Given the description of an element on the screen output the (x, y) to click on. 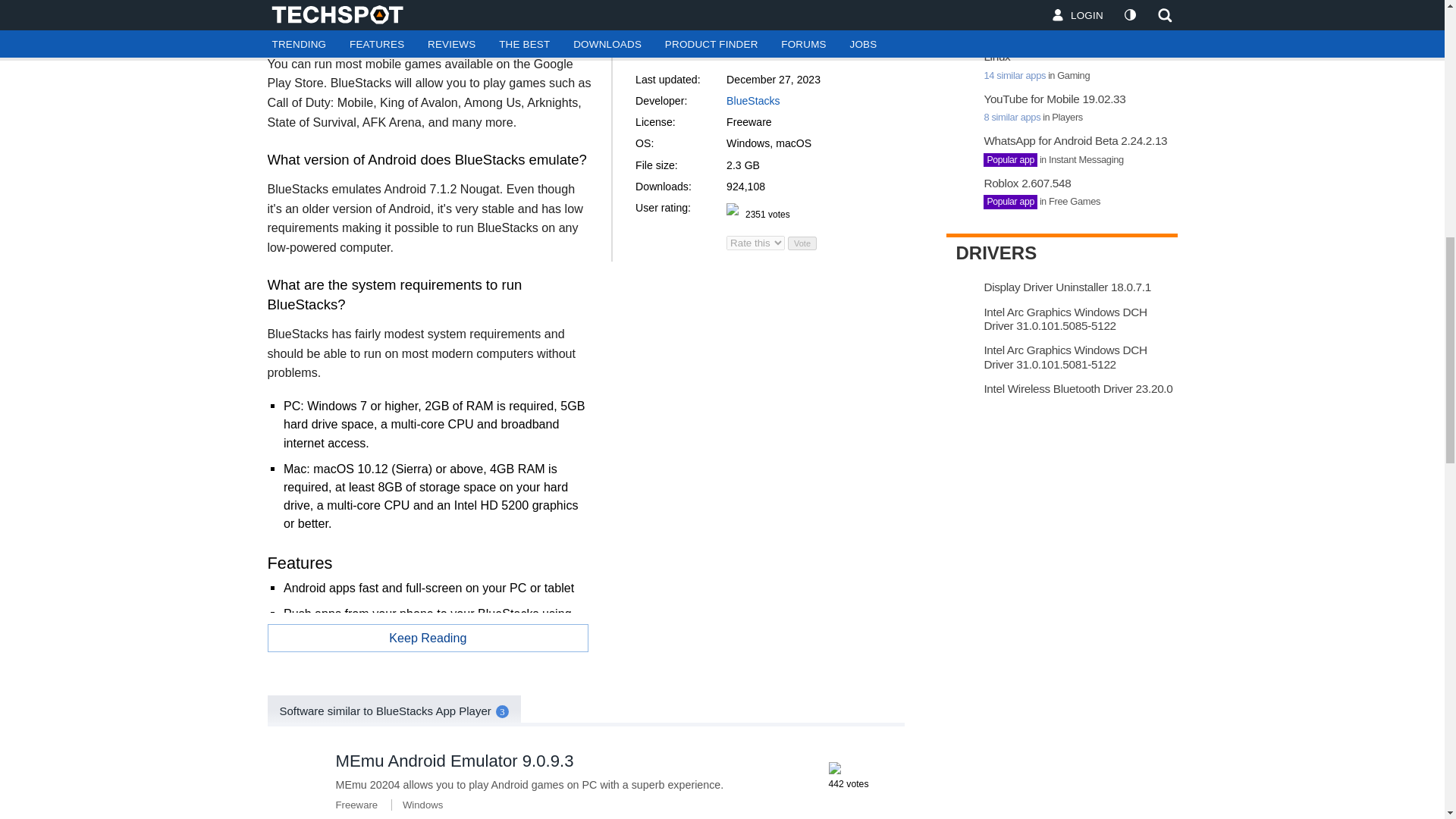
Vote (801, 243)
4.4 stars out of 5 (834, 767)
